Given the description of an element on the screen output the (x, y) to click on. 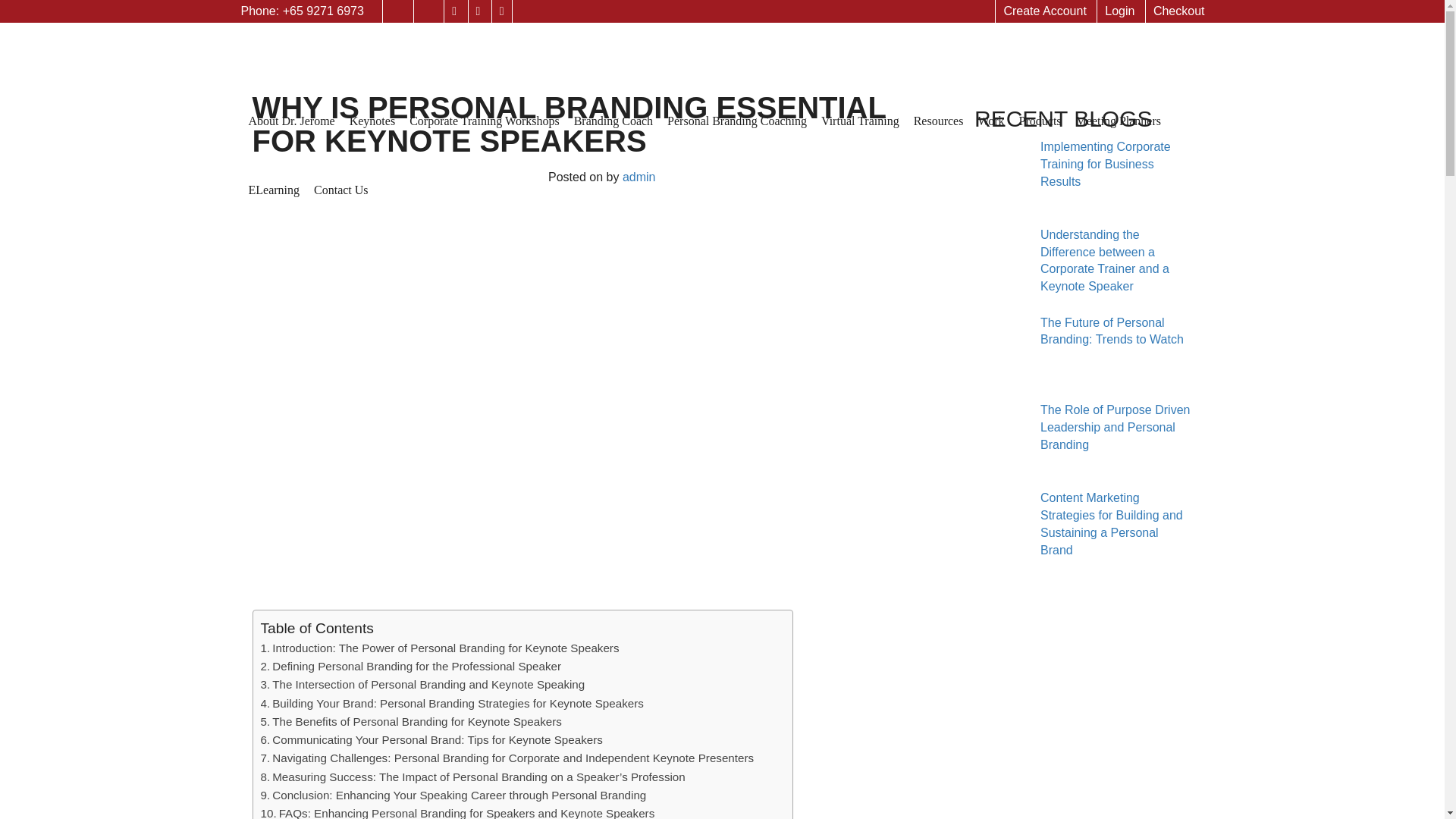
The Benefits of Personal Branding for Keynote Speakers (411, 721)
The Intersection of Personal Branding and Keynote Speaking (422, 684)
Defining Personal Branding for the Professional Speaker (410, 666)
The Intersection of Personal Branding and Keynote Speaking (422, 684)
Login (1119, 10)
Defining Personal Branding for the Professional Speaker (410, 666)
Personal Branding Coaching (736, 111)
Meeting Planners (1118, 111)
Virtual Training (860, 111)
